Given the description of an element on the screen output the (x, y) to click on. 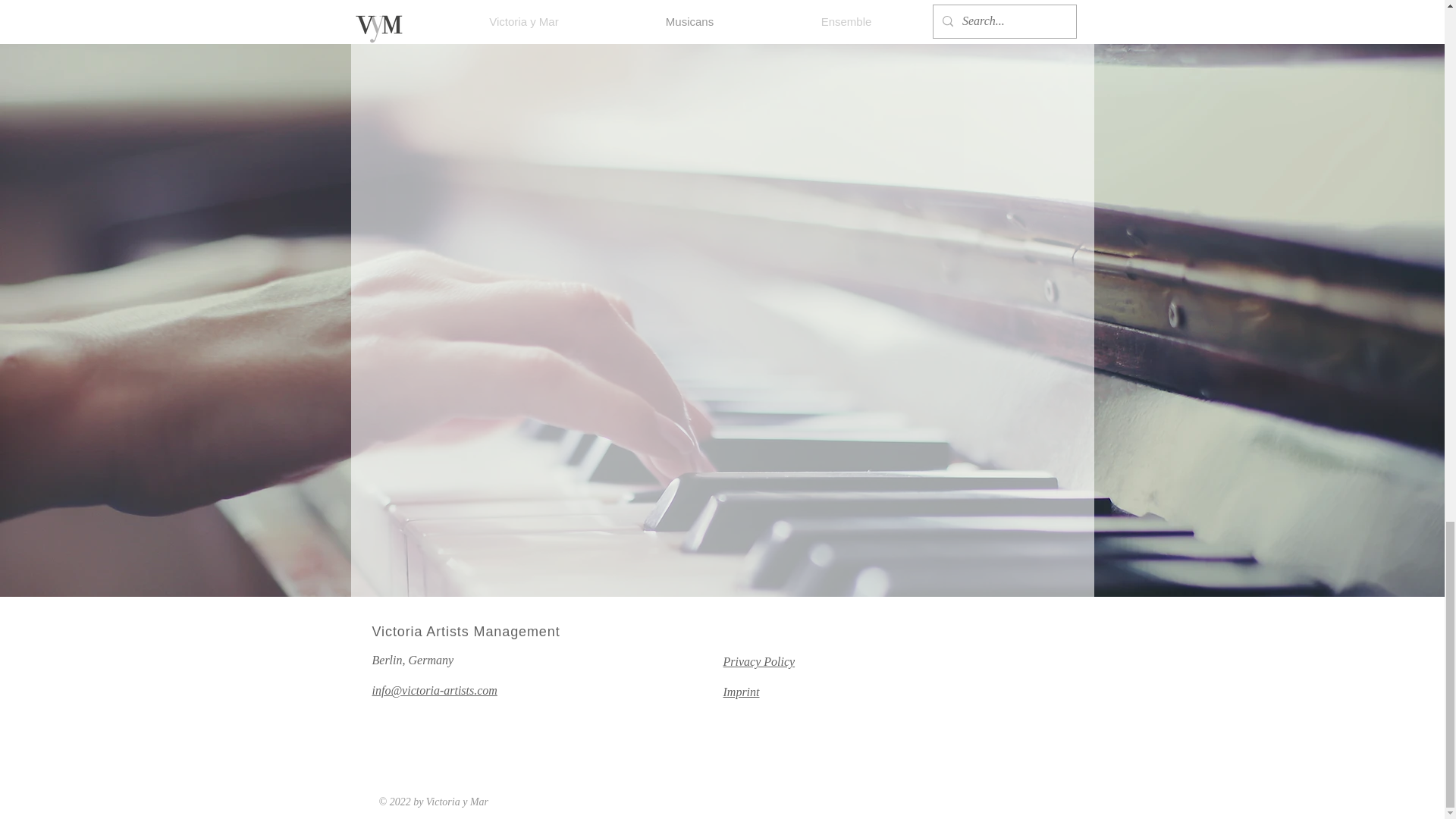
Privacy Policy (758, 661)
Imprint (741, 691)
